Given the description of an element on the screen output the (x, y) to click on. 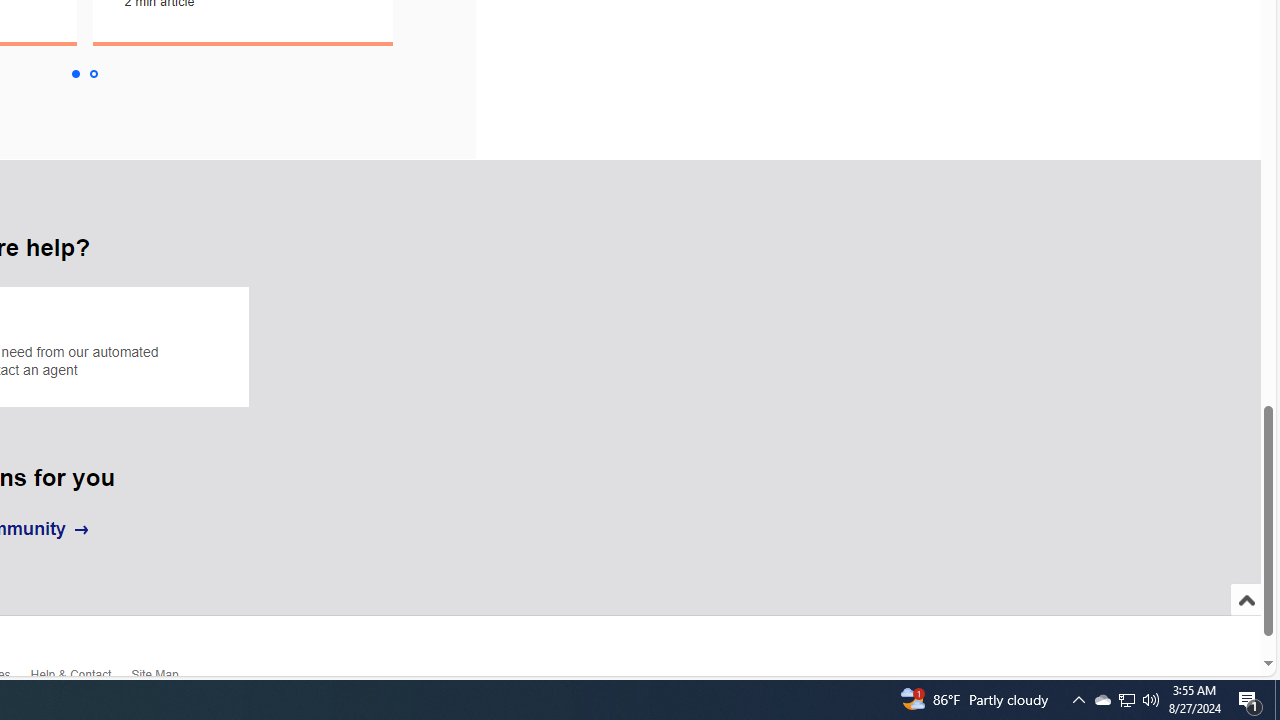
Slide 1 selected (74, 74)
Scroll to top (1246, 620)
Site Map (164, 678)
Help & Contact (80, 678)
Site Map (164, 679)
Slide 2  (93, 74)
Help & Contact (80, 679)
Scroll to top (1246, 599)
